Given the description of an element on the screen output the (x, y) to click on. 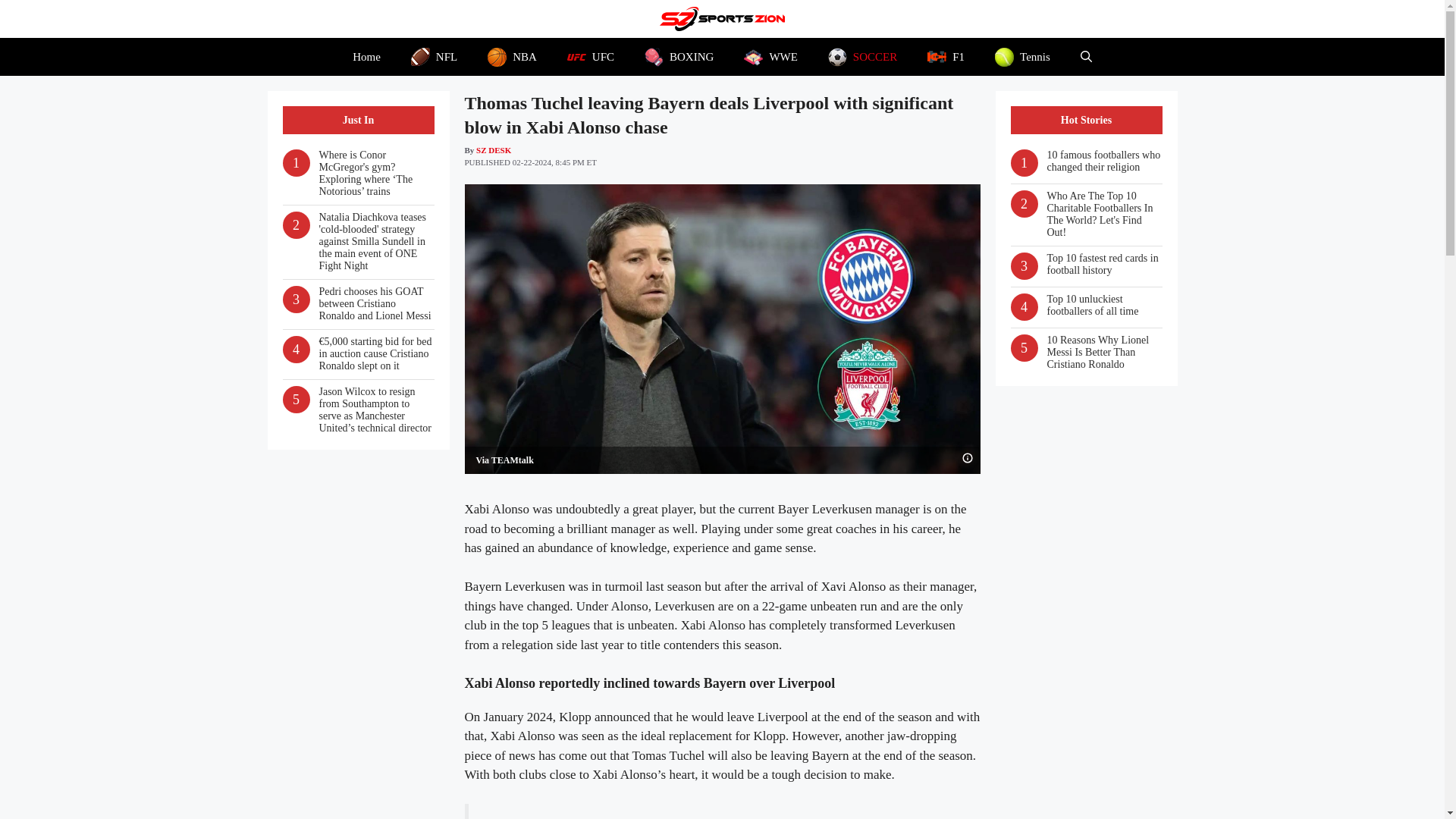
Tennis (1022, 56)
Home (366, 56)
NFL (433, 56)
F1 (945, 56)
NBA (511, 56)
WWE (770, 56)
SOCCER (862, 56)
BOXING (678, 56)
SZ DESK (493, 149)
UFC (589, 56)
